Given the description of an element on the screen output the (x, y) to click on. 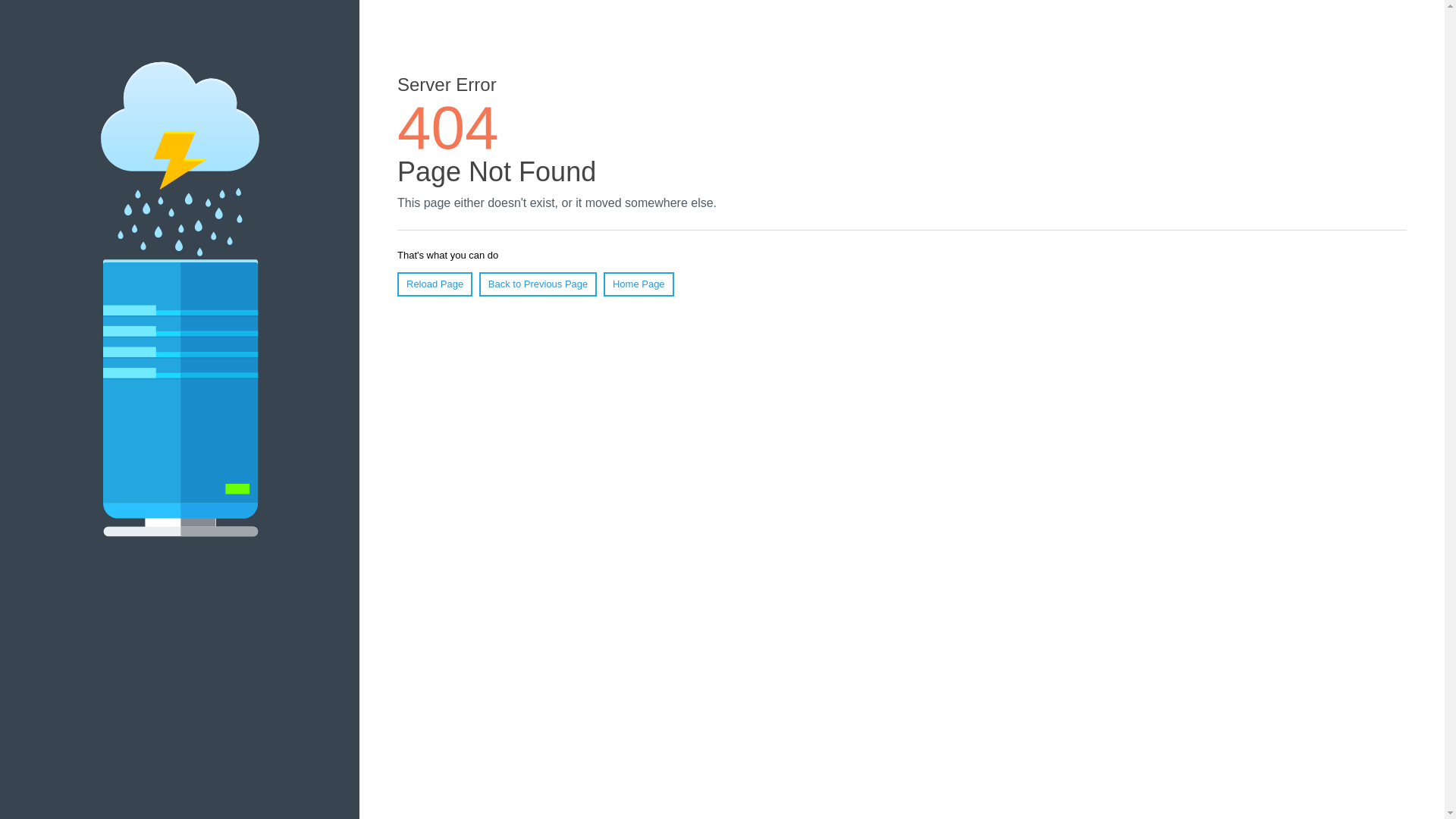
Back to Previous Page Element type: text (538, 284)
Reload Page Element type: text (434, 284)
Home Page Element type: text (638, 284)
